Given the description of an element on the screen output the (x, y) to click on. 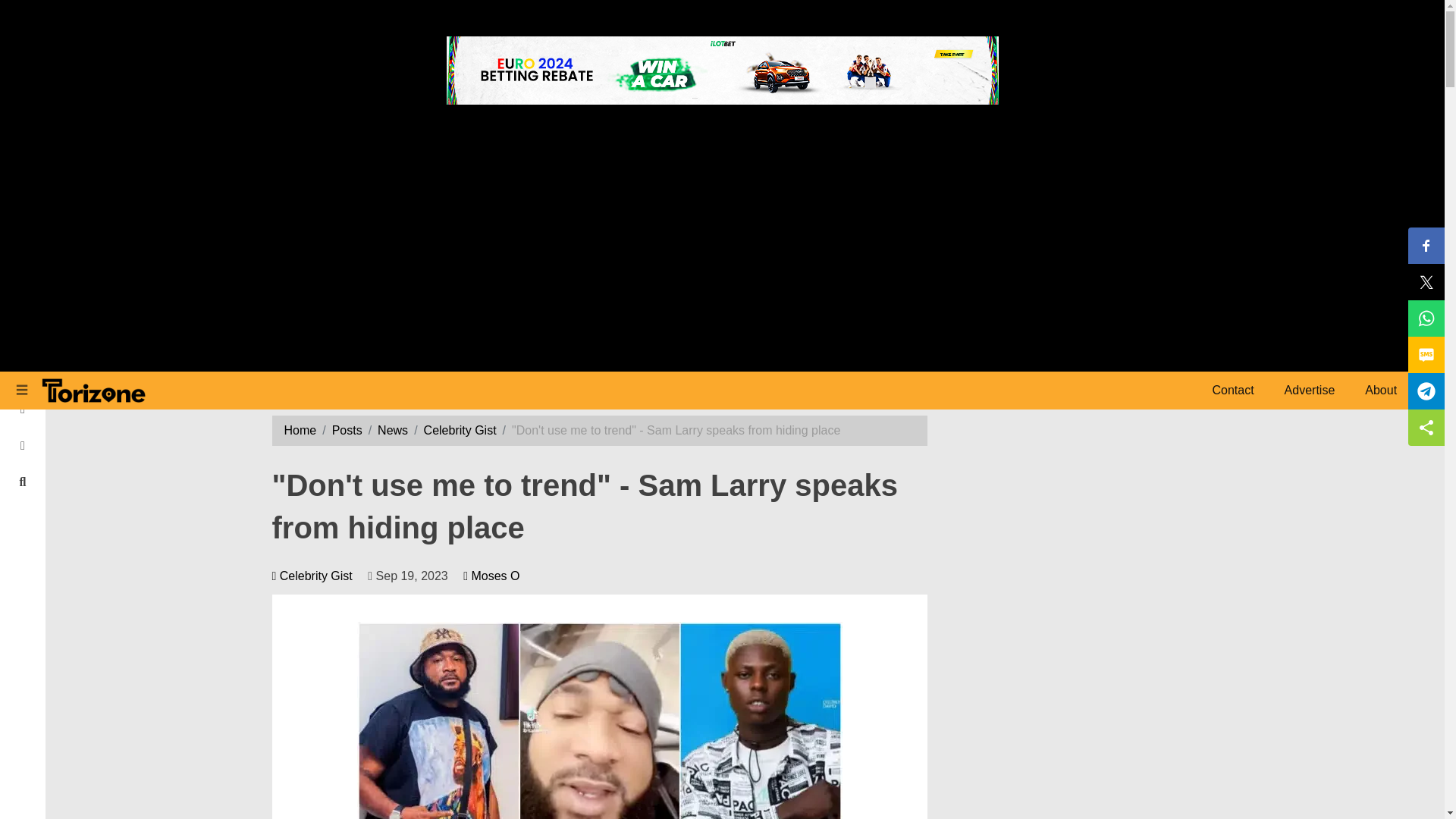
Advertisement (1077, 717)
Advertise (1310, 390)
Trending (22, 409)
Celebrity Gist (459, 430)
Celebrity Gist (311, 575)
News (392, 430)
Home (22, 336)
Contact Us (22, 445)
Moses O (491, 575)
'Don't use me to trend' - Sam Larry speaks from hiding place (598, 720)
Search (22, 482)
Home (299, 430)
Contact (1232, 390)
Posts (346, 430)
